Given the description of an element on the screen output the (x, y) to click on. 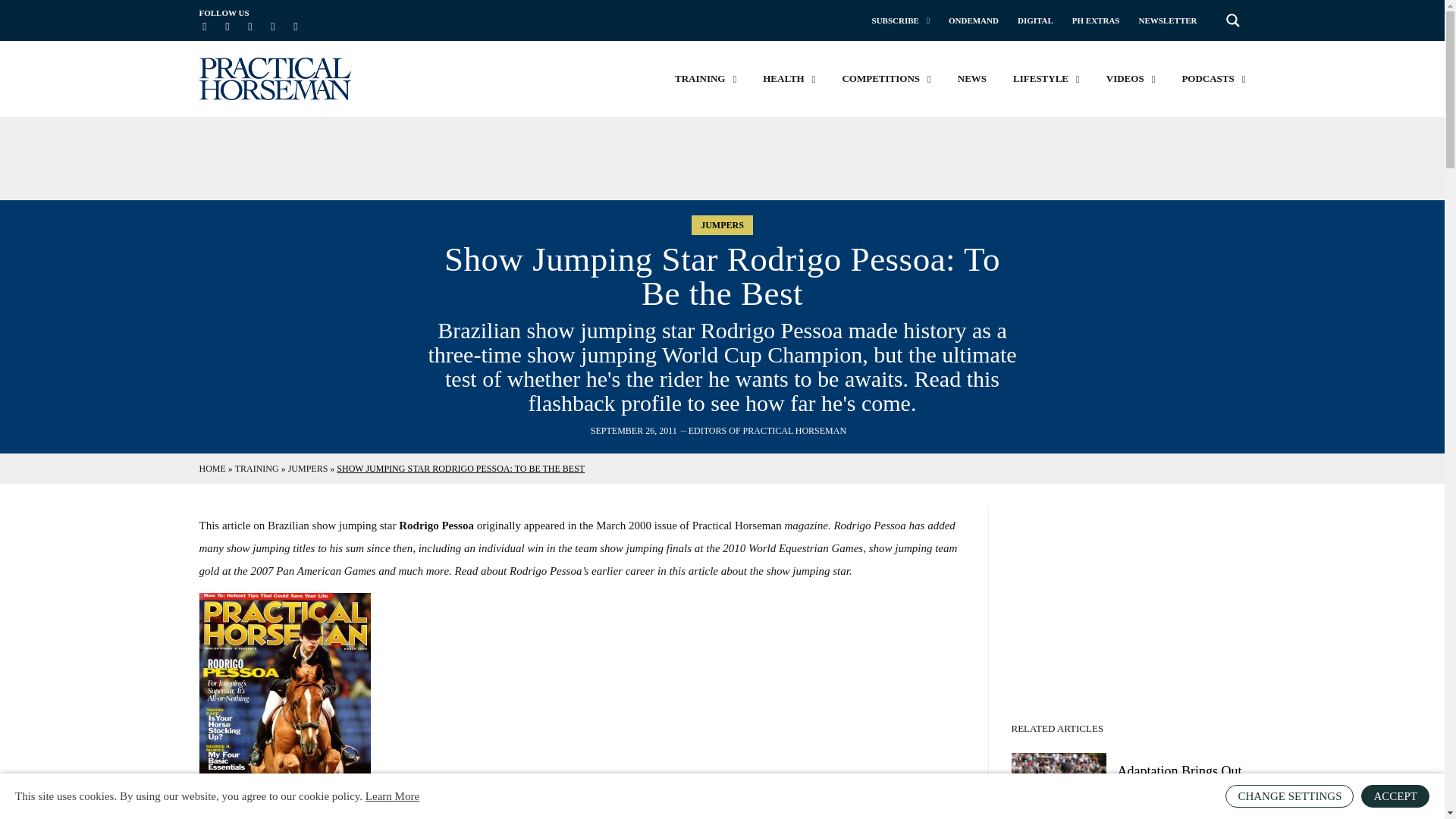
TRAINING (705, 78)
ONDEMAND (973, 20)
3rd party ad content (721, 158)
HEALTH (788, 78)
PH EXTRAS (1095, 20)
3rd party ad content (1132, 601)
DIGITAL (1034, 20)
SUBSCRIBE (901, 20)
NEWSLETTER (1167, 20)
